Given the description of an element on the screen output the (x, y) to click on. 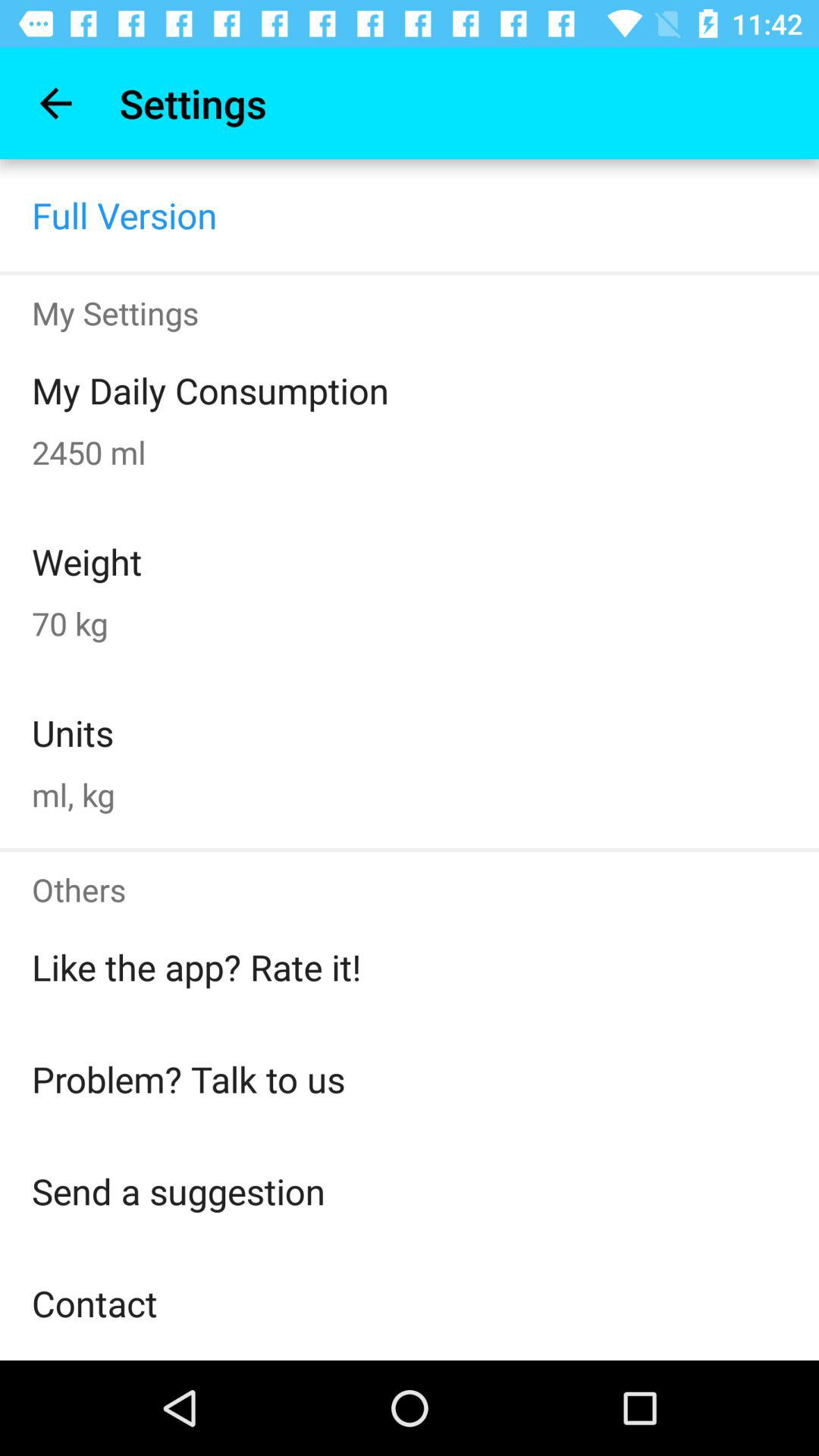
turn on the full version (124, 215)
